Given the description of an element on the screen output the (x, y) to click on. 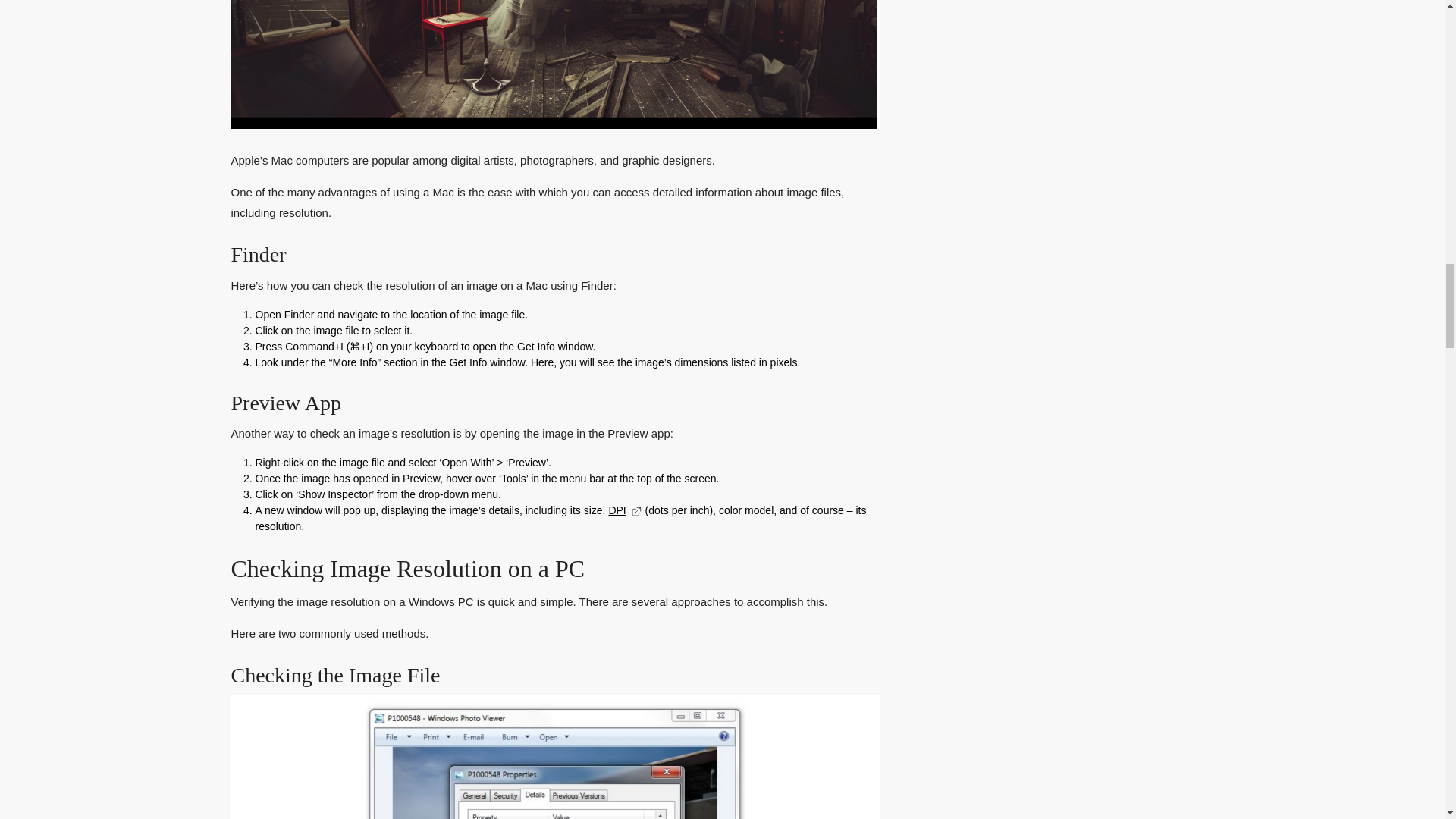
DPI (625, 510)
Link goes to external site. (636, 510)
